Given the description of an element on the screen output the (x, y) to click on. 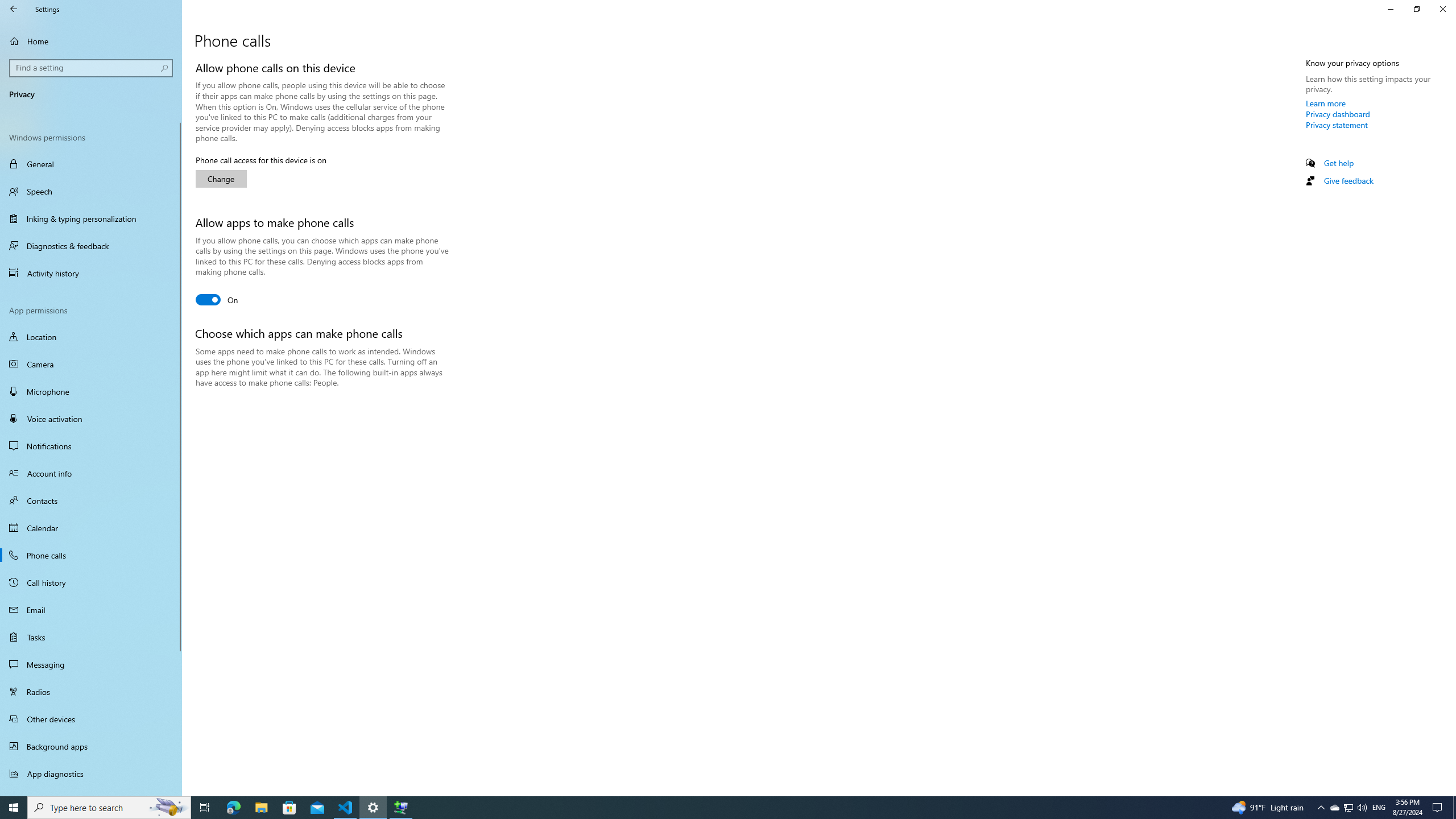
User Promoted Notification Area (1347, 807)
Show desktop (1454, 807)
Change (221, 178)
Privacy dashboard (1338, 113)
Email (91, 609)
General (91, 163)
Camera (91, 363)
Privacy statement (1336, 124)
Automatic file downloads (91, 791)
Notifications (91, 445)
Back (13, 9)
Tray Input Indicator - English (United States) (1378, 807)
Allow apps to make phone calls (216, 299)
Notification Chevron (1320, 807)
